Given the description of an element on the screen output the (x, y) to click on. 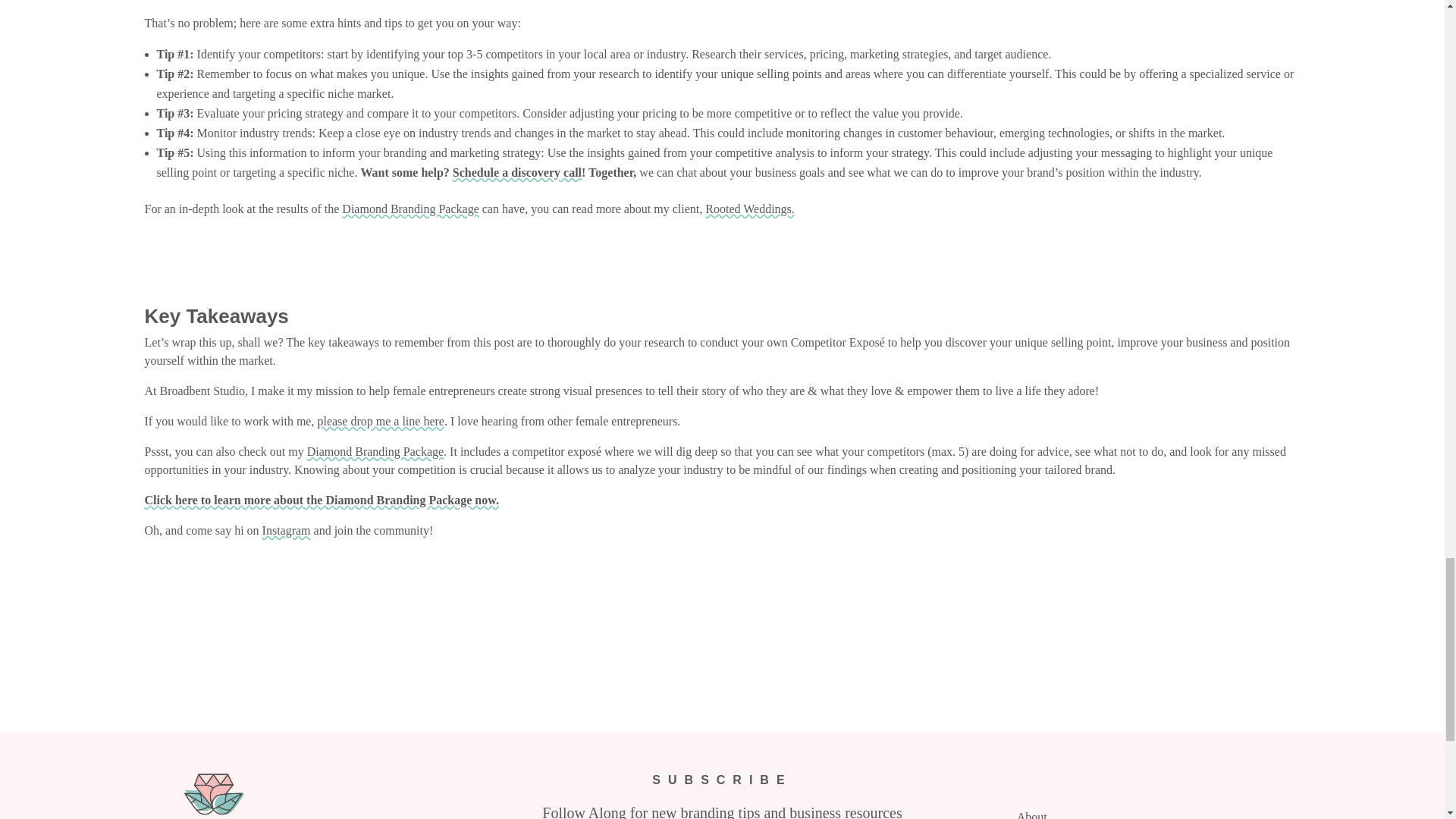
Branding Packages (375, 451)
Branding Packages (320, 499)
Rooted Weddings (749, 208)
Diamond Branding Package (375, 451)
Instagram (286, 530)
Diamond Branding Package (410, 208)
Branding Packages (410, 208)
Schedule a discovery call (516, 172)
Contact (380, 420)
